Given the description of an element on the screen output the (x, y) to click on. 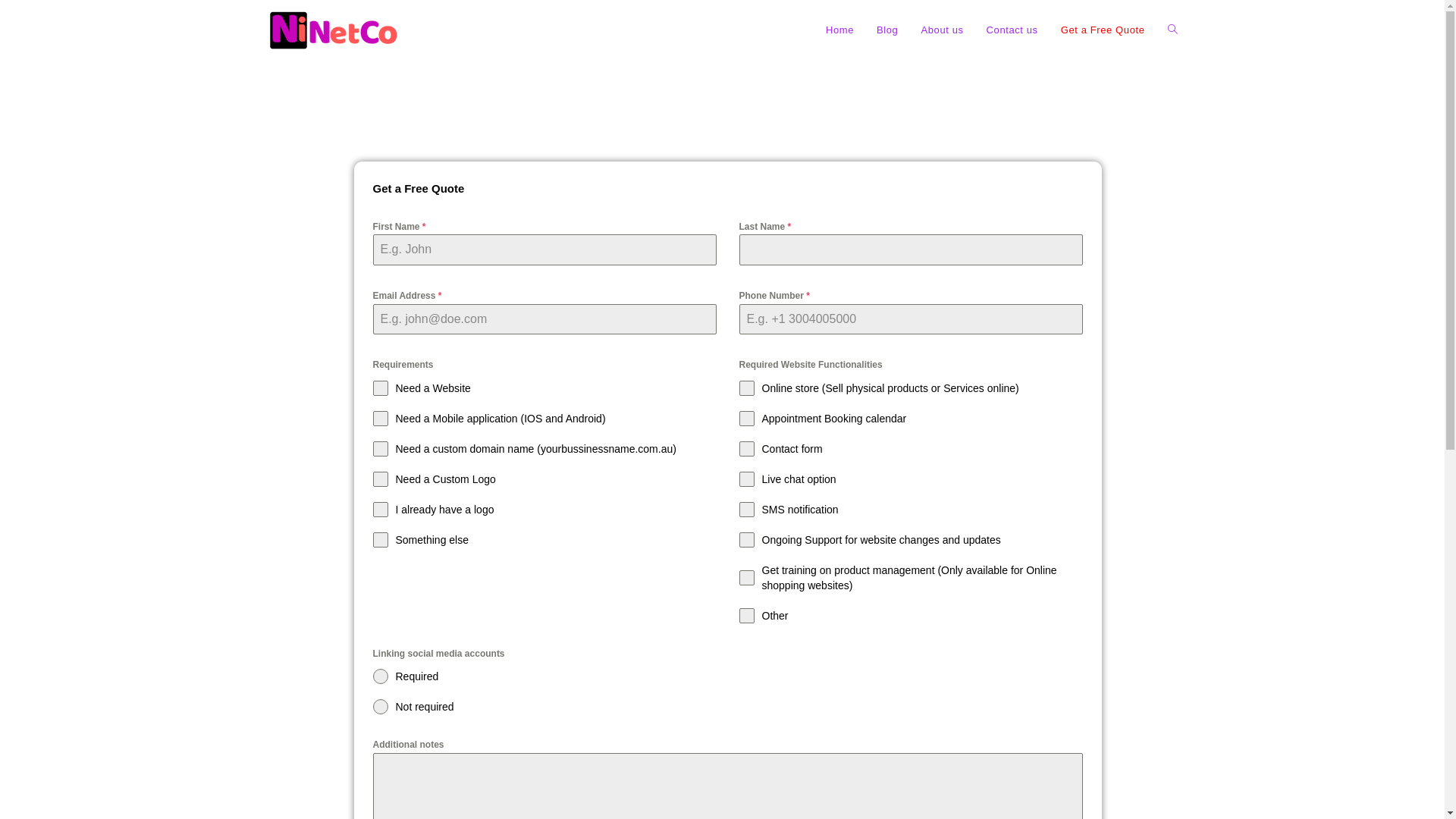
About us Element type: text (941, 30)
Contact us Element type: text (1012, 30)
Home Element type: text (839, 30)
Get a Free Quote Element type: text (1102, 30)
Blog Element type: text (887, 30)
